Given the description of an element on the screen output the (x, y) to click on. 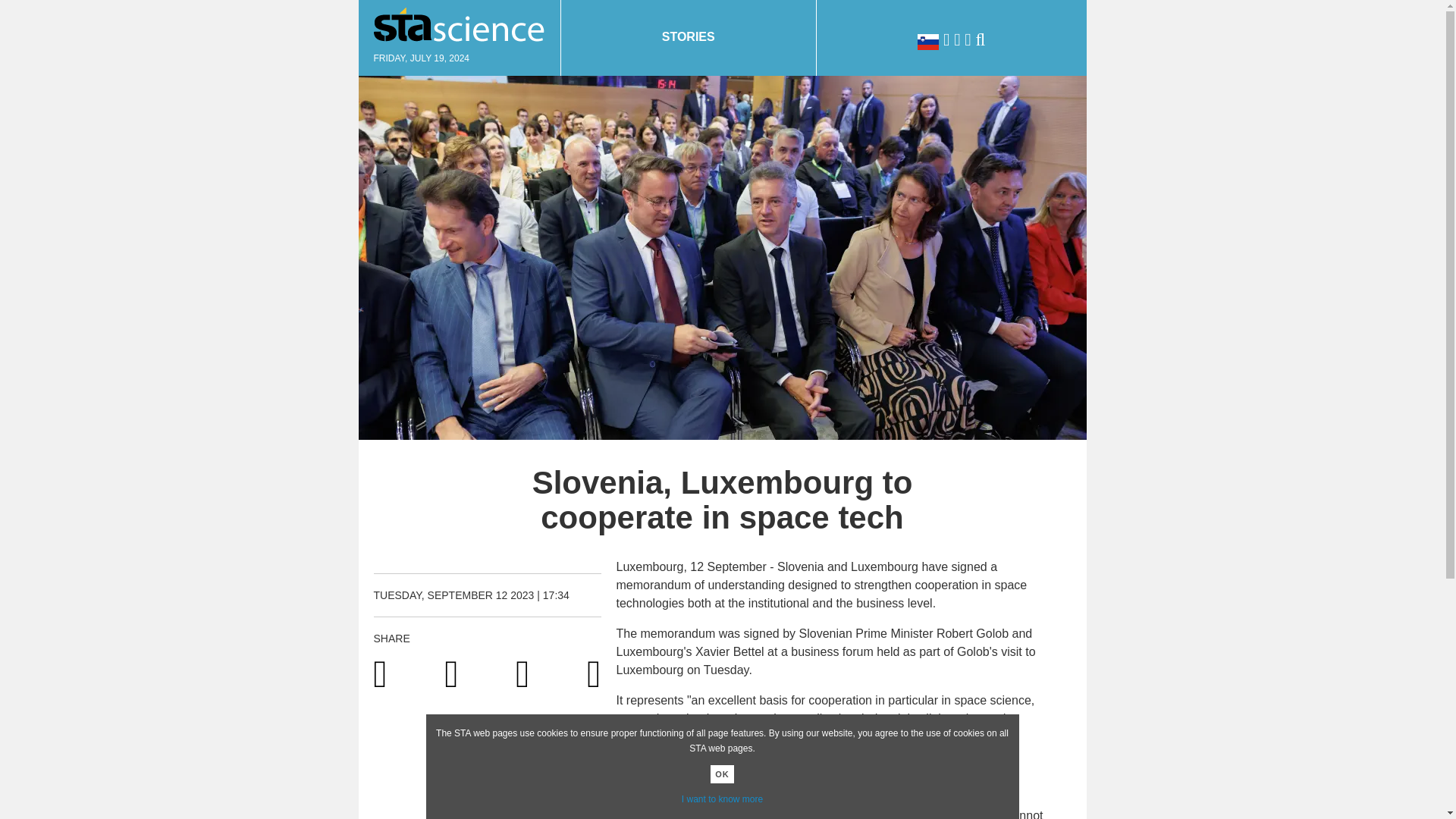
STORIES (688, 38)
I want to know more (721, 798)
OK (721, 773)
